Given the description of an element on the screen output the (x, y) to click on. 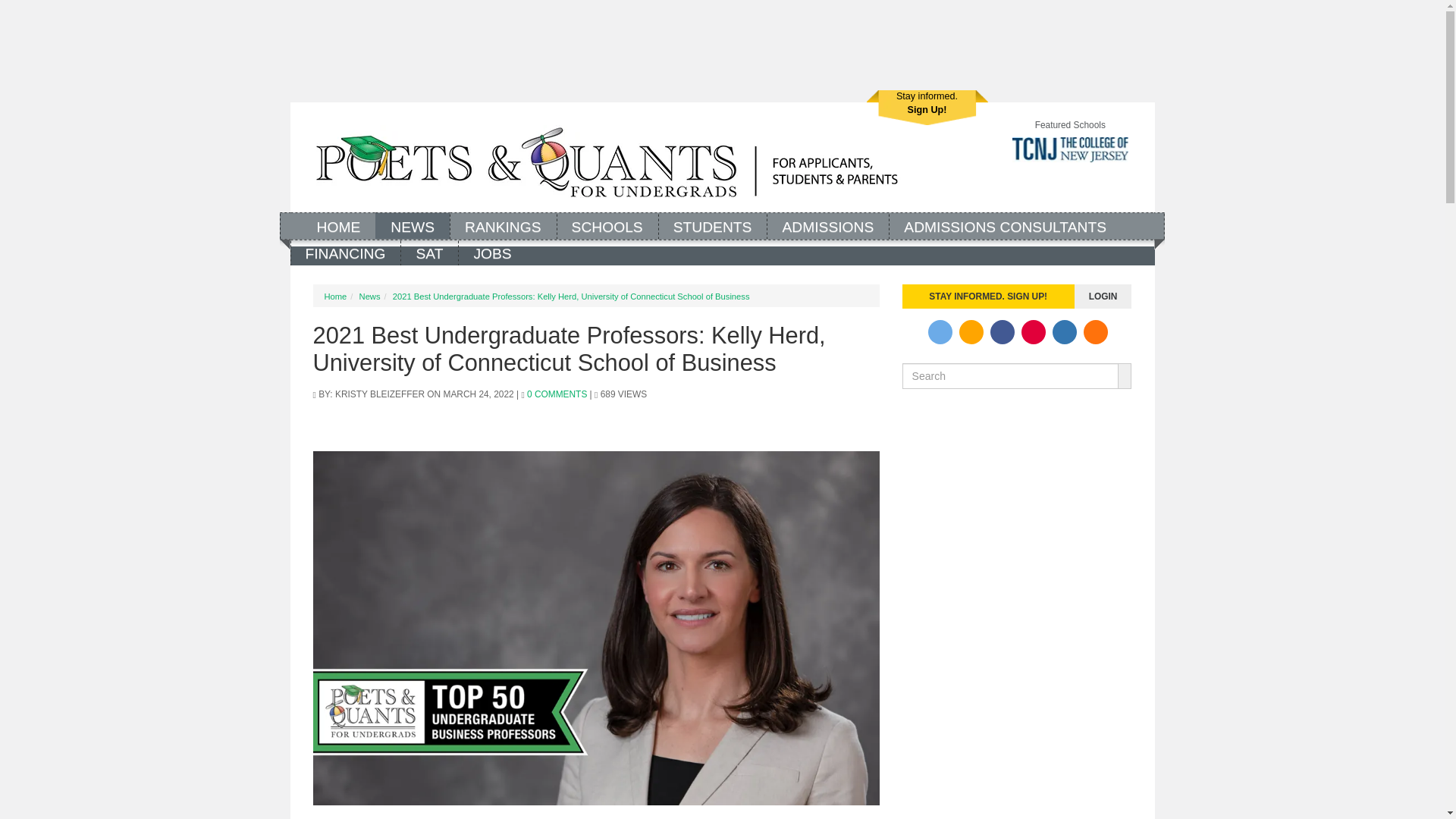
News (412, 225)
ADMISSIONS CONSULTANTS (1004, 225)
SCHOOLS (607, 225)
HOME (338, 225)
Register (926, 107)
Schools (607, 225)
JOBS (491, 252)
Students (926, 107)
Rankings (712, 225)
ADMISSIONS (502, 225)
Financing (827, 225)
NEWS (344, 252)
STUDENTS (412, 225)
Admissions Consultants (712, 225)
